Given the description of an element on the screen output the (x, y) to click on. 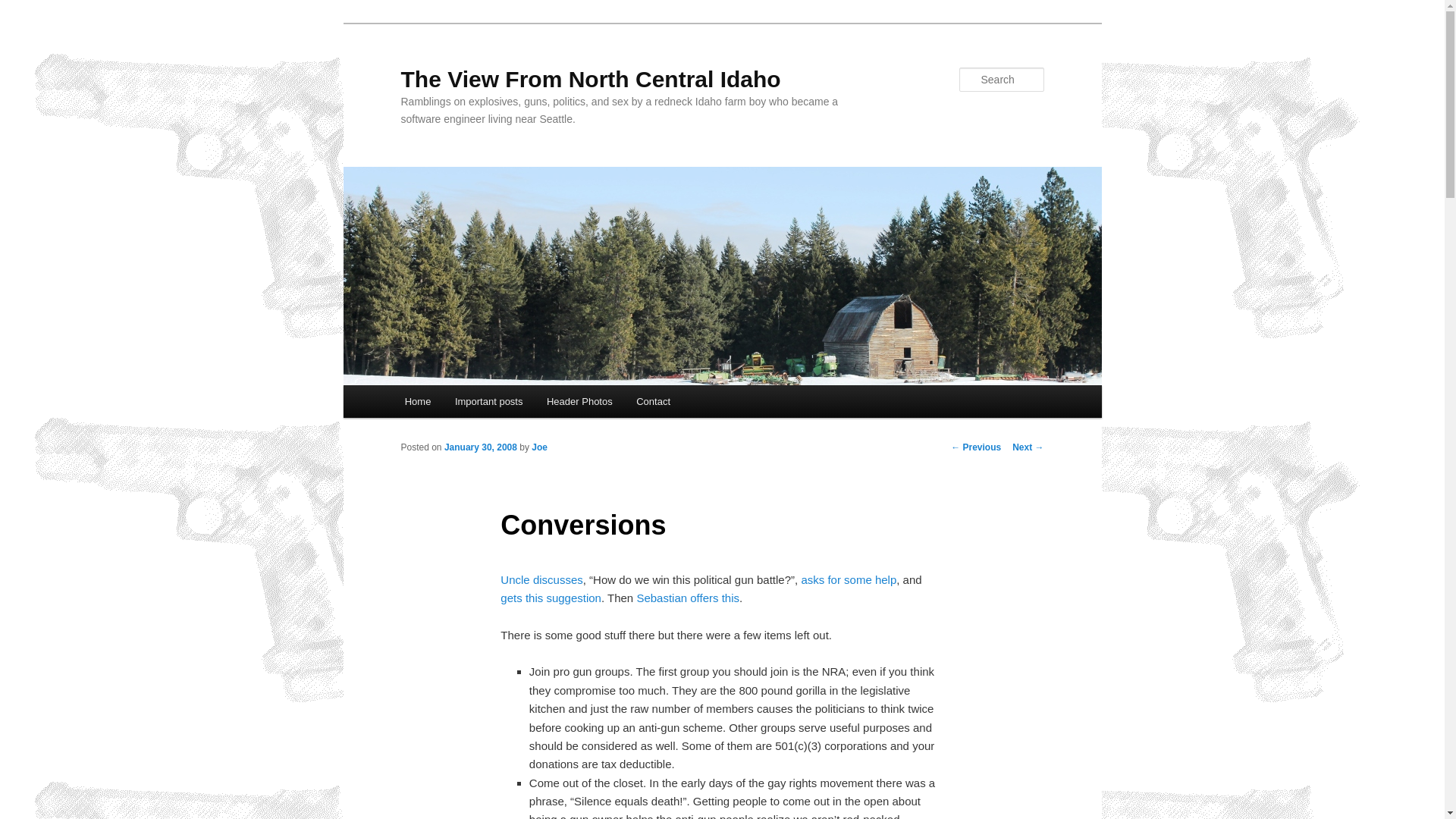
Sebastian offers this (687, 597)
Home (417, 400)
Header Photos (579, 400)
Contact (652, 400)
Search (24, 8)
Uncle discusses (541, 579)
January 30, 2008 (480, 447)
gets this suggestion (550, 597)
Important posts (488, 400)
View all posts by Joe (539, 447)
